Given the description of an element on the screen output the (x, y) to click on. 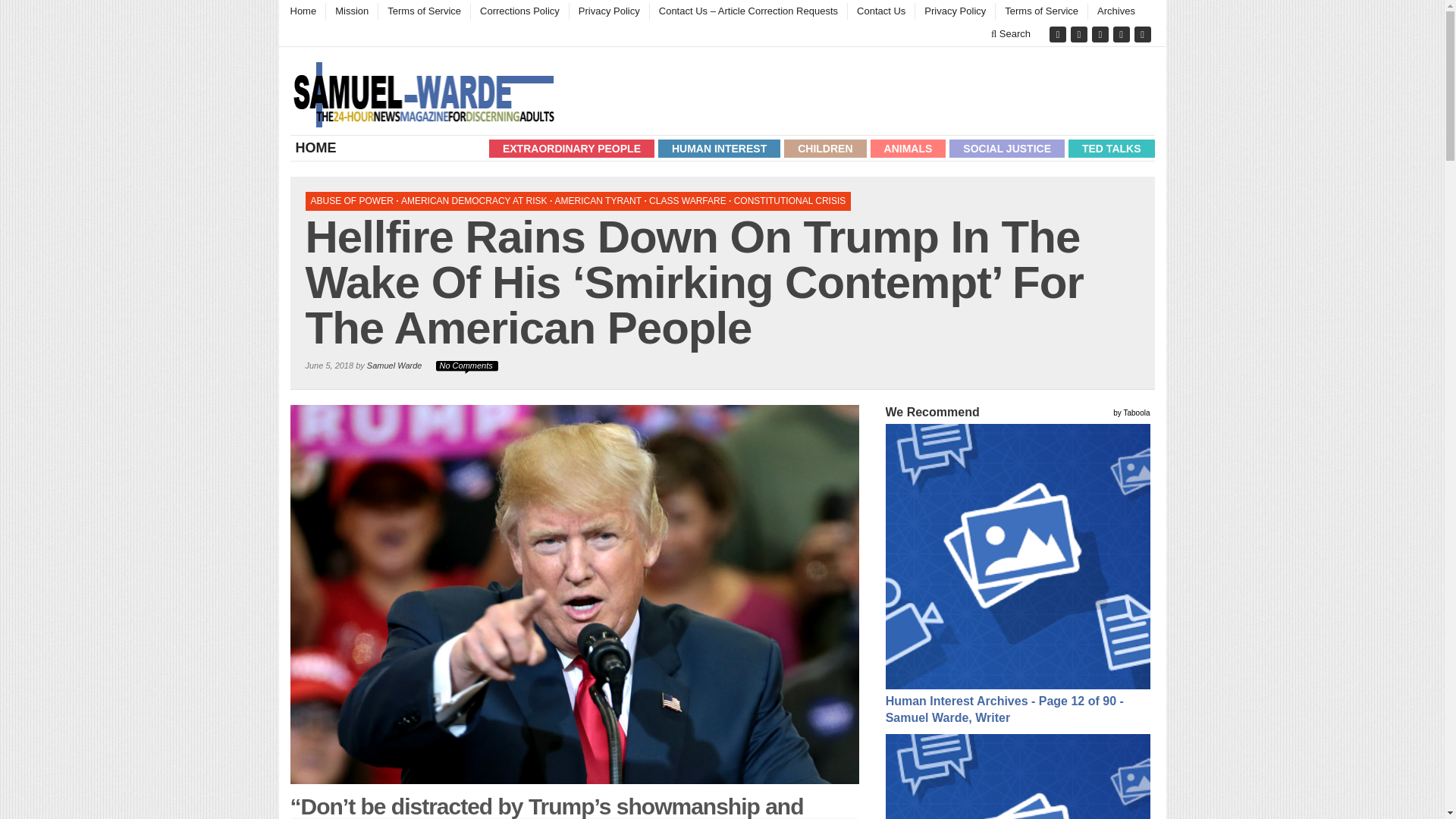
CONSTITUTIONAL CRISIS (789, 200)
ANIMALS (908, 148)
Terms of Service (1040, 11)
HUMAN INTEREST (719, 148)
Samuel Warde (394, 365)
AMERICAN TYRANT (598, 200)
Corrections Policy (519, 11)
AMERICAN DEMOCRACY AT RISK (474, 200)
Samuel Warde, Writer (425, 94)
ABUSE OF POWER (352, 200)
Search (1010, 33)
Site feed (1144, 34)
Twitter (1059, 34)
Mission (350, 11)
HOME (317, 147)
